Given the description of an element on the screen output the (x, y) to click on. 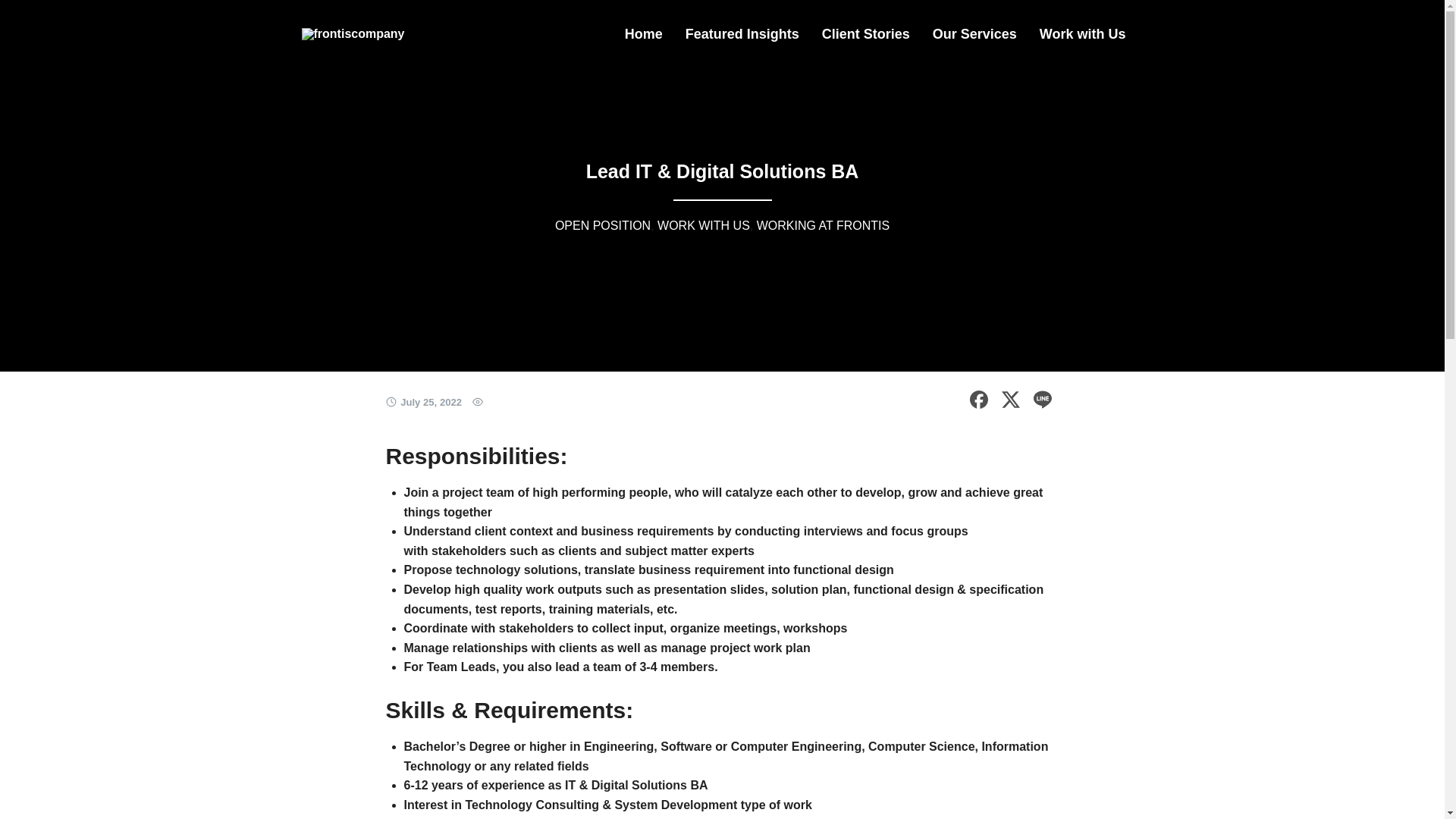
Our Services (974, 33)
OPEN POSITION (602, 224)
Facebook (978, 399)
Featured Insights (742, 33)
Work with Us (1082, 33)
LINE (1041, 399)
X (1010, 402)
X (1010, 399)
WORK WITH US (703, 224)
LINE (1042, 402)
